Given the description of an element on the screen output the (x, y) to click on. 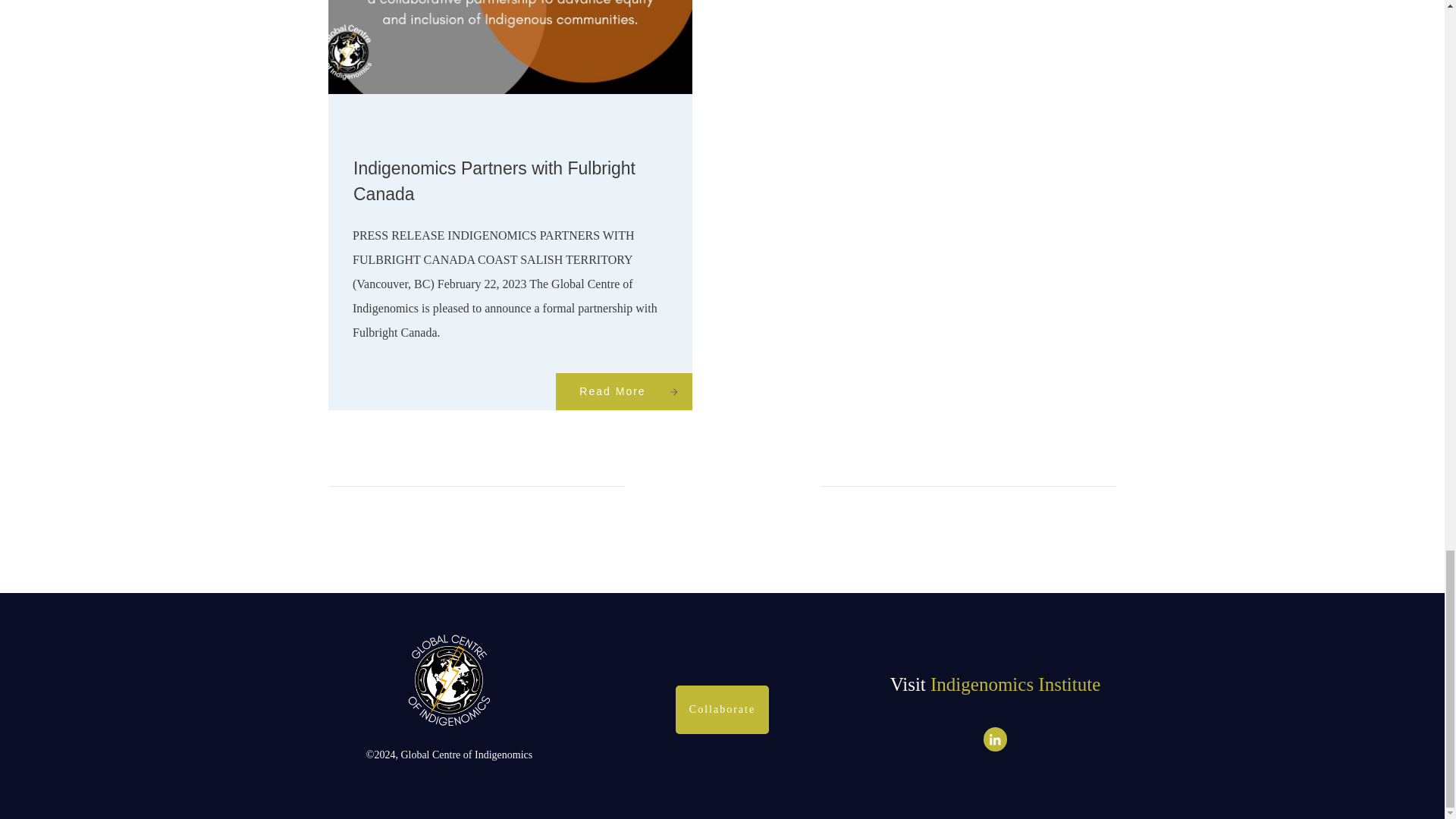
Read More (622, 391)
Collaborate (721, 709)
Indigenomics Partners with Fulbright Canada (493, 180)
Indigenomics Institute (1015, 684)
Indigenomics Partners with Fulbright Canada (493, 180)
